Given the description of an element on the screen output the (x, y) to click on. 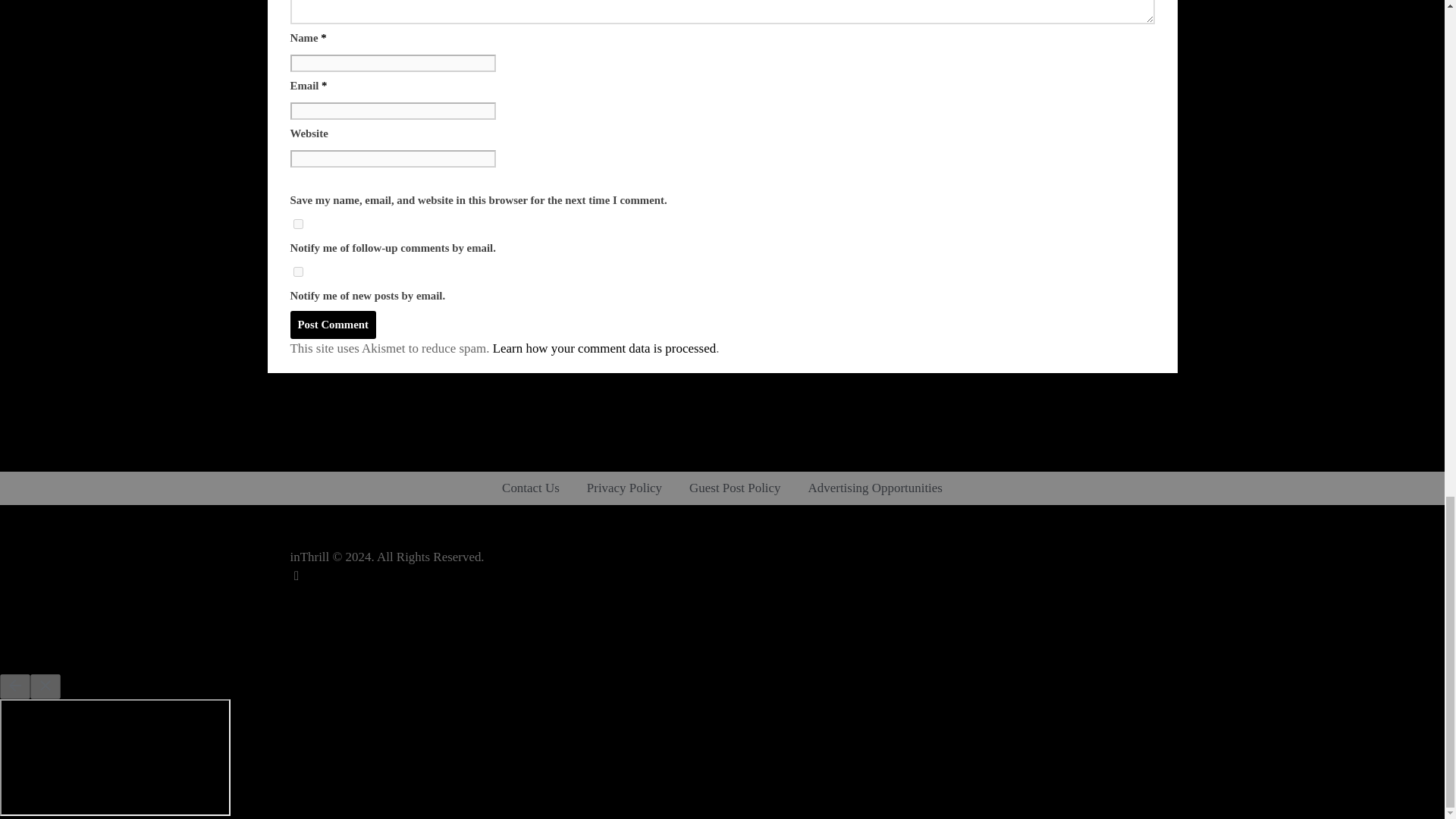
Post Comment (332, 325)
Follow us on Youtube (295, 633)
Contact Us (530, 488)
Follow us on Facebook (295, 594)
Follow us on Twitter (295, 575)
subscribe (297, 224)
subscribe (297, 271)
Privacy Policy (624, 488)
Post Comment (332, 325)
Guest Post Policy (734, 488)
